Given the description of an element on the screen output the (x, y) to click on. 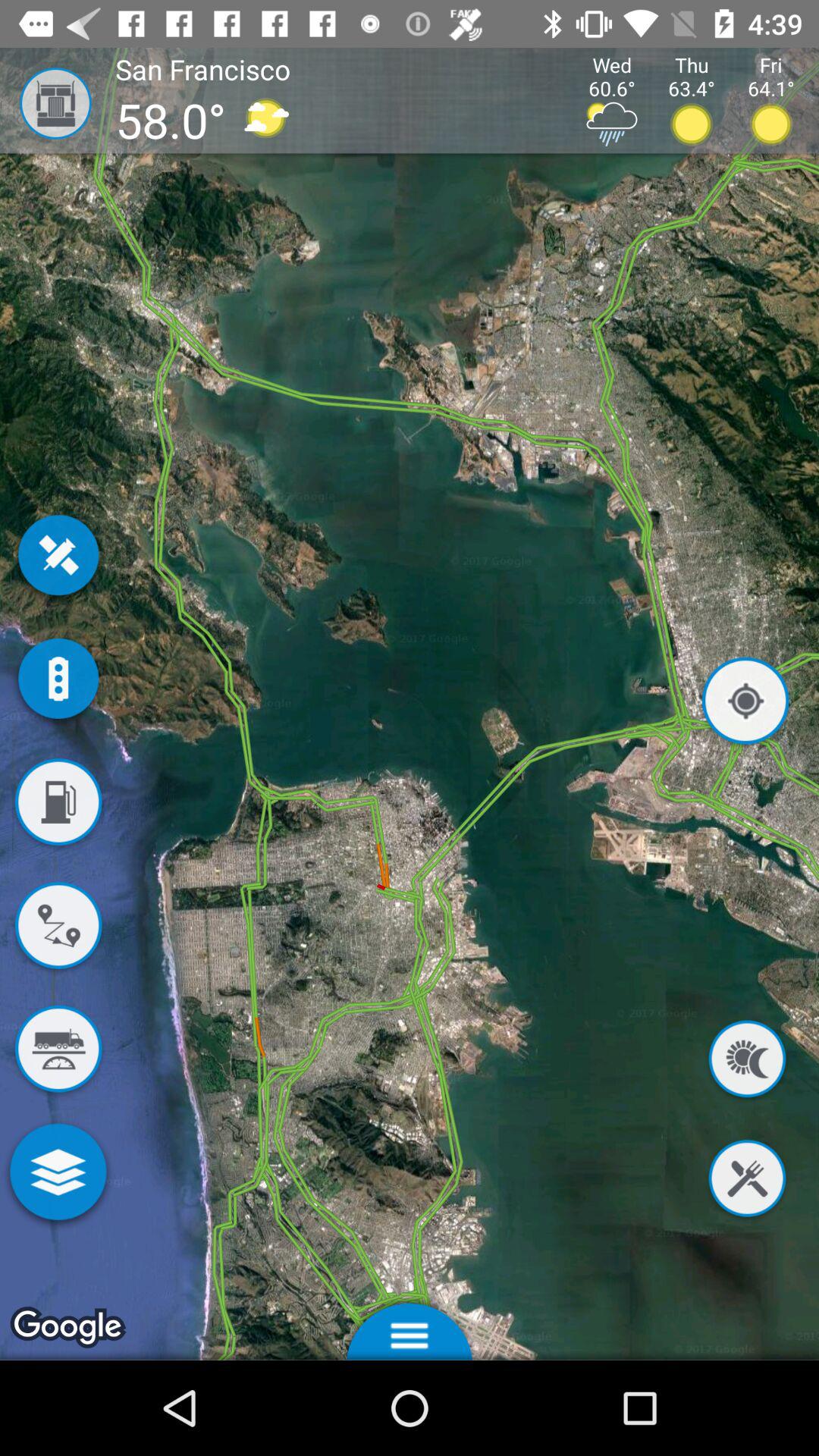
search restaurants (747, 1181)
